Given the description of an element on the screen output the (x, y) to click on. 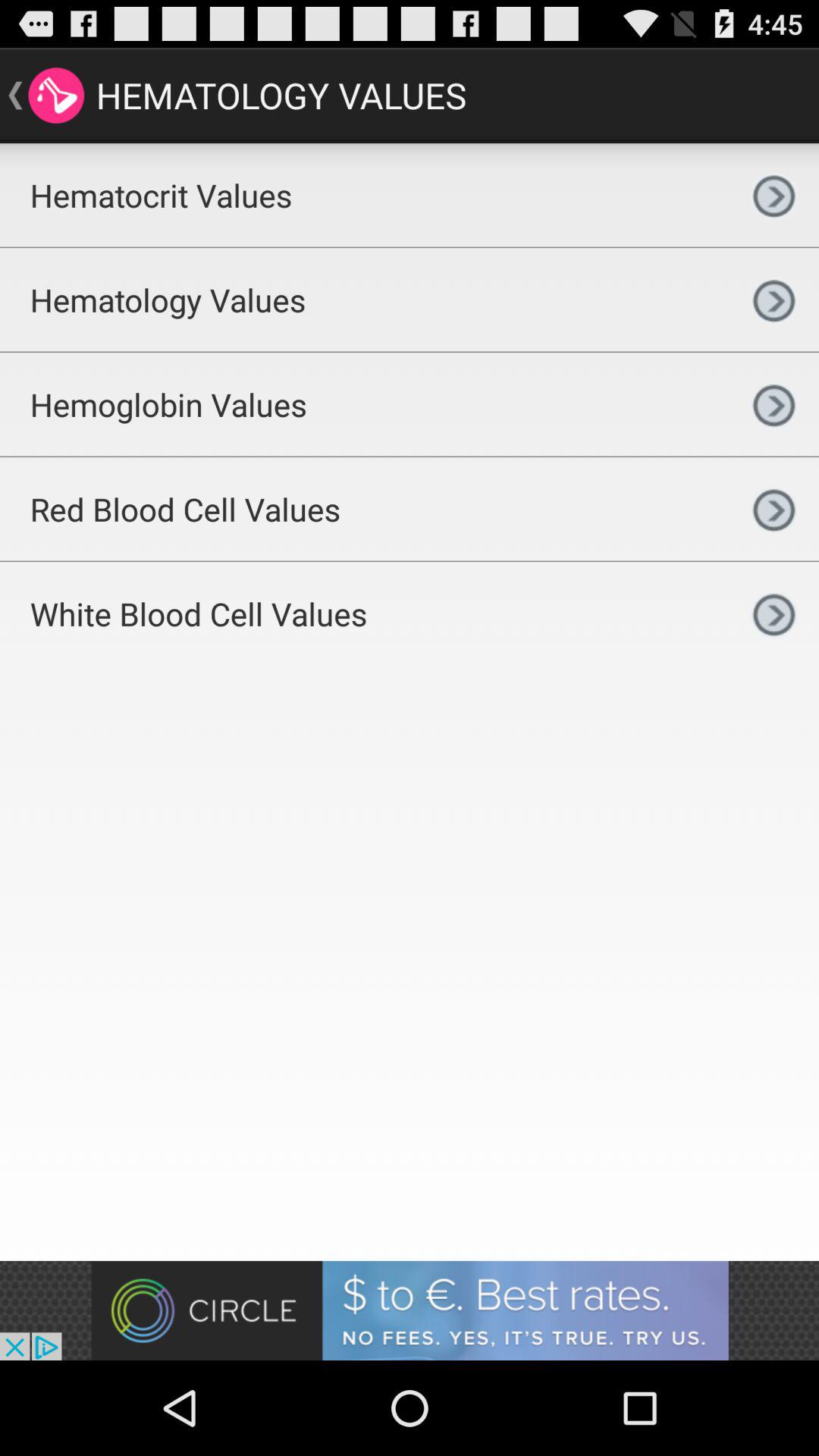
announcement (409, 1310)
